Given the description of an element on the screen output the (x, y) to click on. 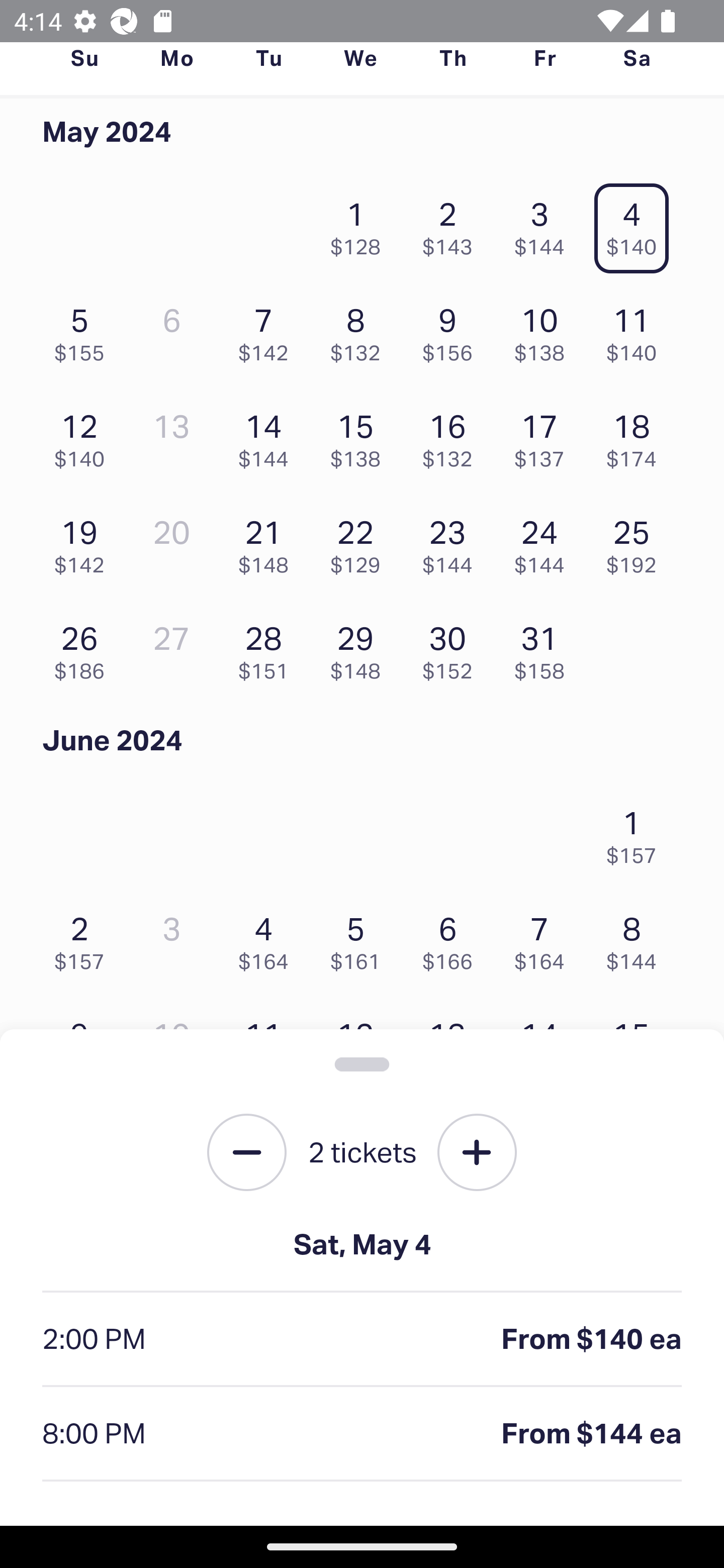
1 $128 (360, 223)
2 $143 (452, 223)
3 $144 (544, 223)
4 $140 (636, 223)
5 $155 (84, 329)
7 $142 (268, 329)
8 $132 (360, 329)
9 $156 (452, 329)
10 $138 (544, 329)
11 $140 (636, 329)
12 $140 (84, 435)
14 $144 (268, 435)
15 $138 (360, 435)
16 $132 (452, 435)
17 $137 (544, 435)
18 $174 (636, 435)
19 $142 (84, 541)
21 $148 (268, 541)
22 $129 (360, 541)
23 $144 (452, 541)
24 $144 (544, 541)
25 $192 (636, 541)
26 $186 (84, 647)
28 $151 (268, 647)
29 $148 (360, 647)
30 $152 (452, 647)
31 $158 (544, 647)
1 $157 (636, 831)
2 $157 (84, 938)
4 $164 (268, 938)
5 $161 (360, 938)
6 $166 (452, 938)
7 $164 (544, 938)
8 $144 (636, 938)
2:00 PM From $140 ea (361, 1339)
8:00 PM From $144 ea (361, 1434)
